Given the description of an element on the screen output the (x, y) to click on. 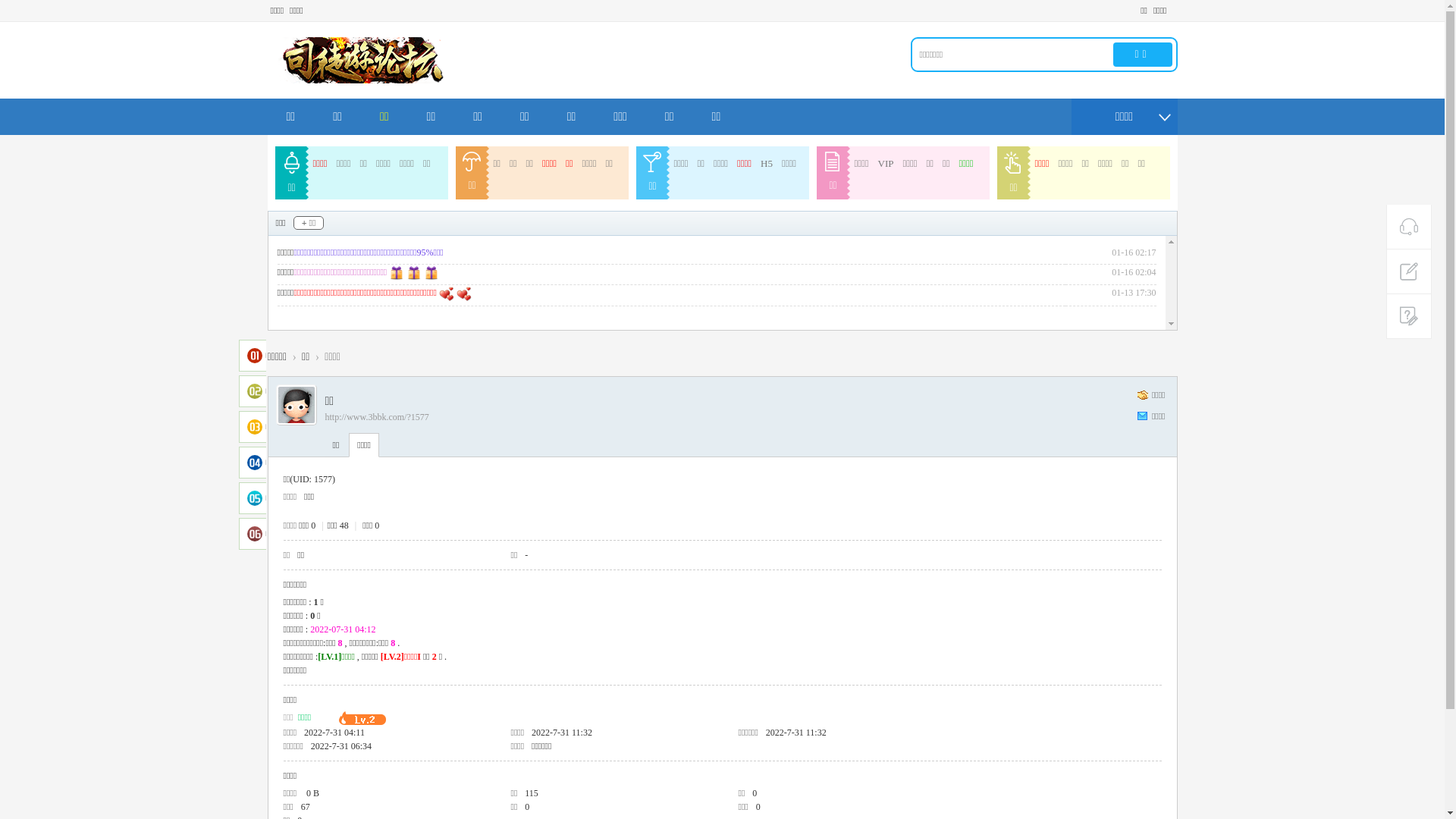
H5 Element type: text (766, 162)
VIP Element type: text (886, 162)
http://www.3bbk.com/?1577 Element type: text (376, 416)
